Given the description of an element on the screen output the (x, y) to click on. 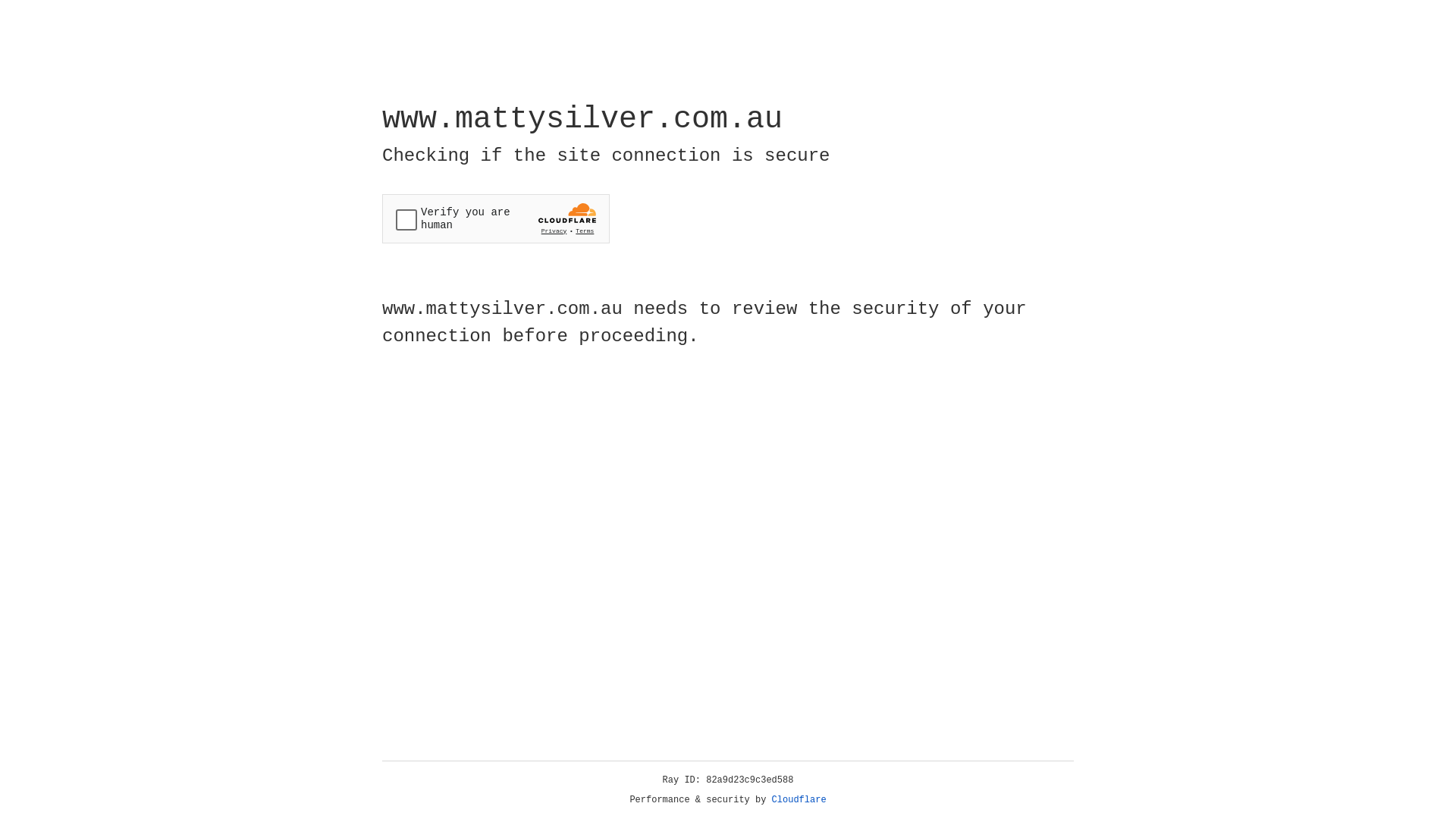
Cloudflare Element type: text (798, 799)
Widget containing a Cloudflare security challenge Element type: hover (495, 218)
